Given the description of an element on the screen output the (x, y) to click on. 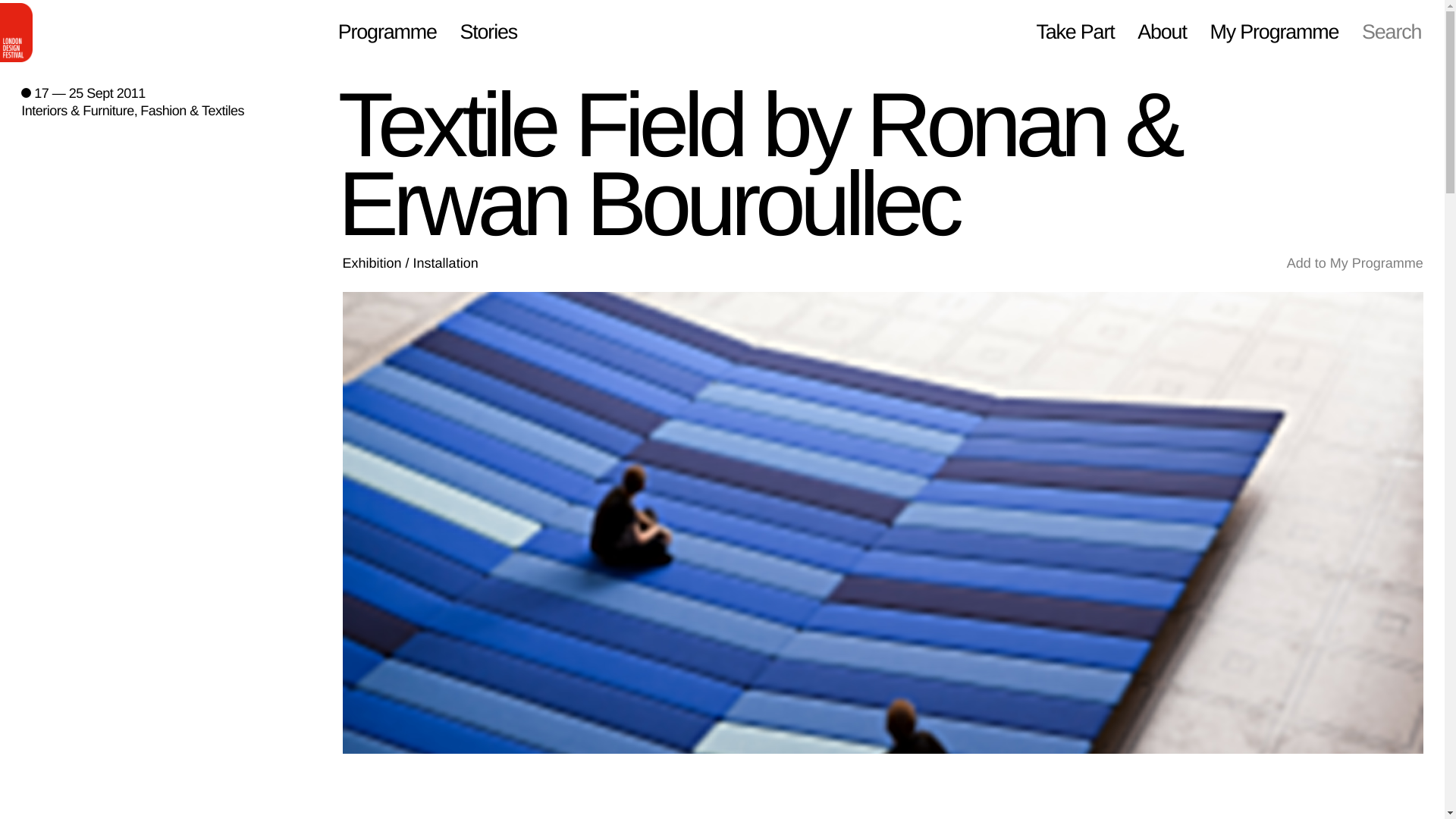
My Programme (1273, 32)
Programme (386, 32)
About (1161, 32)
Stories (488, 32)
Search (1391, 32)
Take Part (1074, 32)
